Given the description of an element on the screen output the (x, y) to click on. 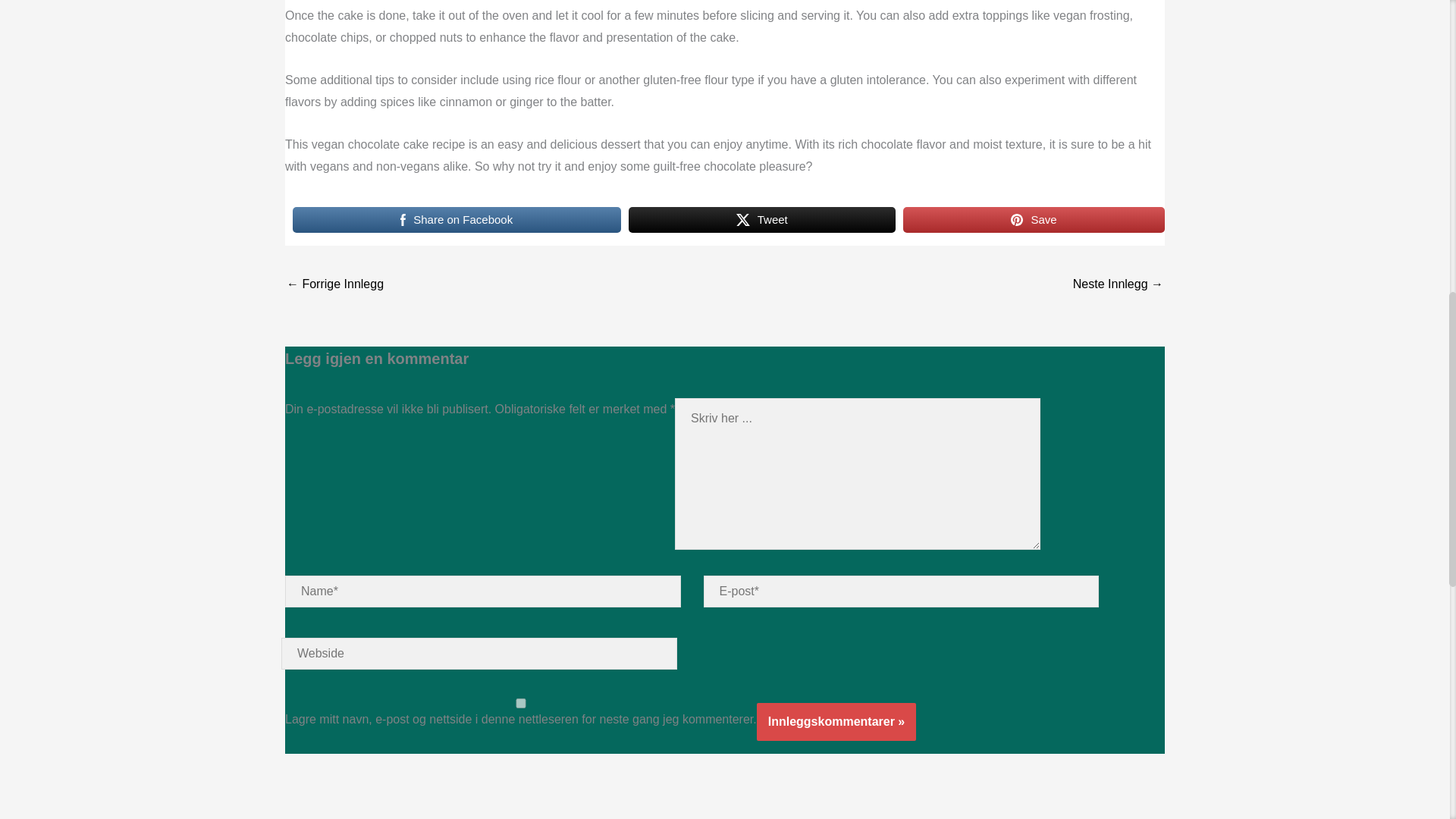
The Ultimate Guide to Grilled Chipotle Miso Tofu (335, 285)
Share on Facebook (456, 219)
Save (1033, 219)
Vegan shepherd's pie recipe (1118, 285)
Tweet (762, 219)
yes (521, 703)
